Given the description of an element on the screen output the (x, y) to click on. 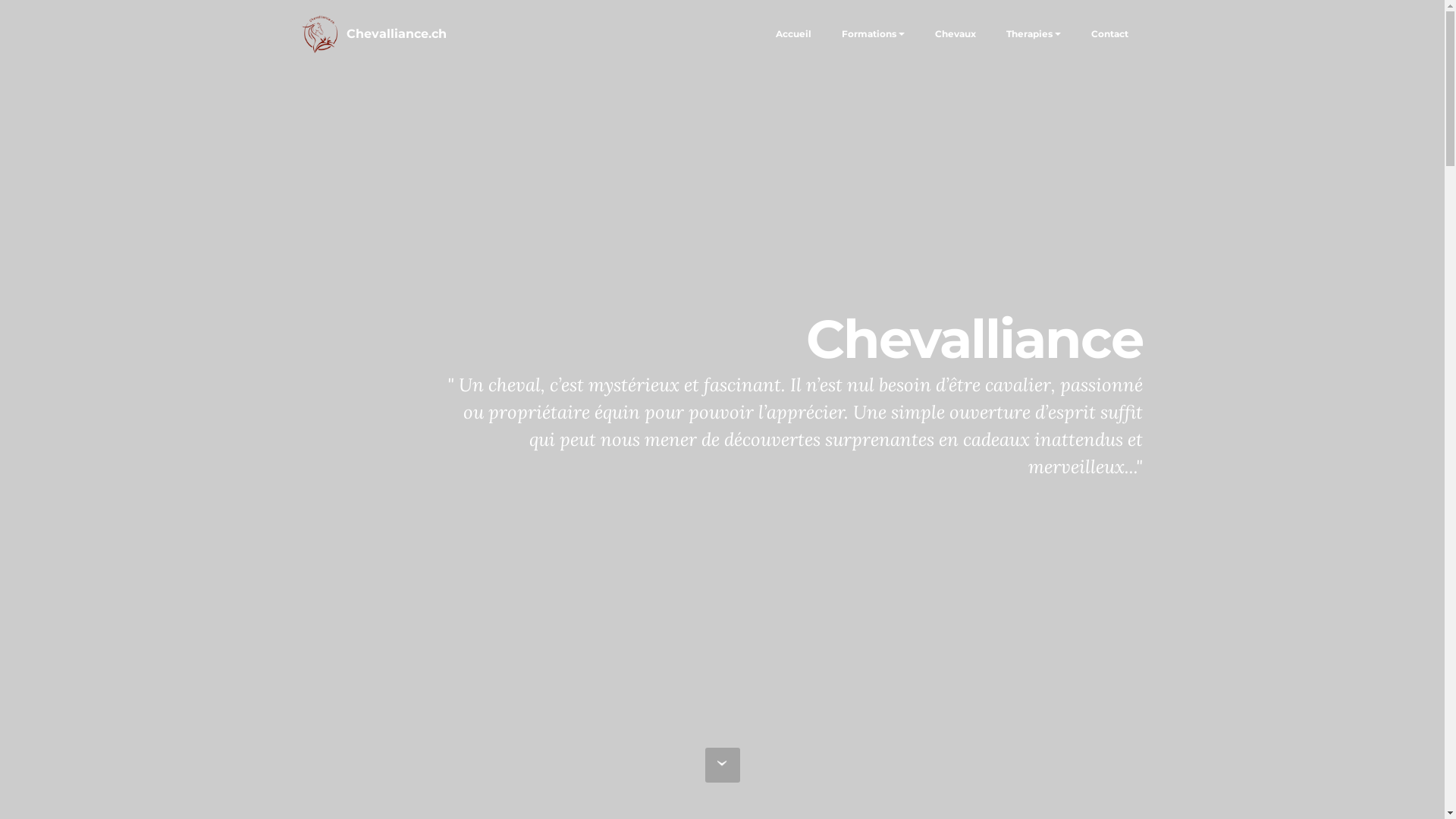
Contact Element type: text (1108, 33)
Therapies Element type: text (1029, 33)
Accueil Element type: text (793, 33)
Formations Element type: text (868, 33)
Chevalliance.ch Element type: text (396, 34)
Chevaux Element type: text (955, 33)
